Given the description of an element on the screen output the (x, y) to click on. 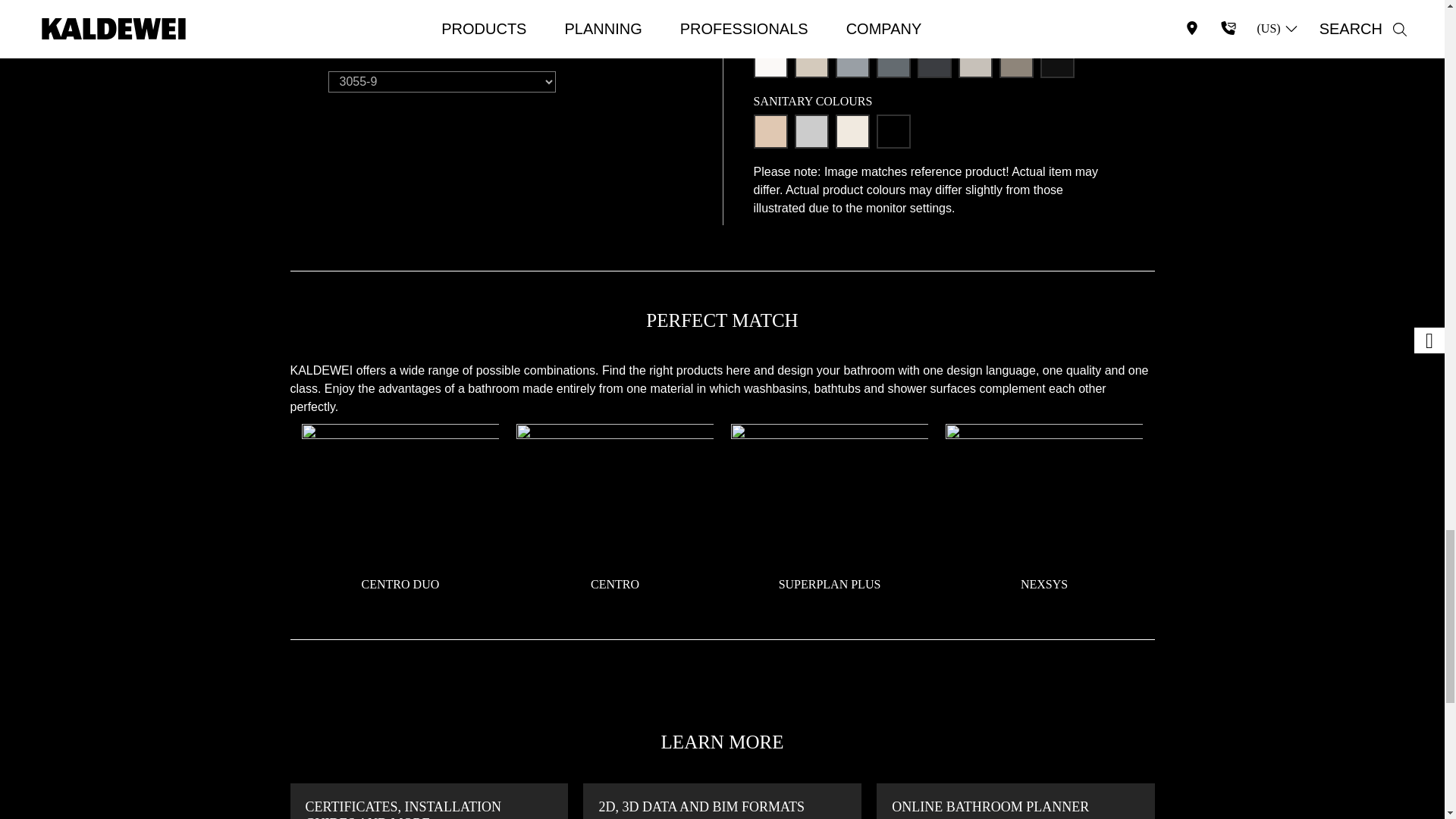
warm grey 10 (975, 60)
alpine white matt (770, 60)
alpine white (770, 4)
SUPERPLAN PLUS (829, 584)
cool grey 70 (893, 60)
cool grey 90 (934, 60)
warm beige 20 (811, 60)
cool grey 30 (852, 60)
manhattan (811, 131)
black (893, 131)
